Given the description of an element on the screen output the (x, y) to click on. 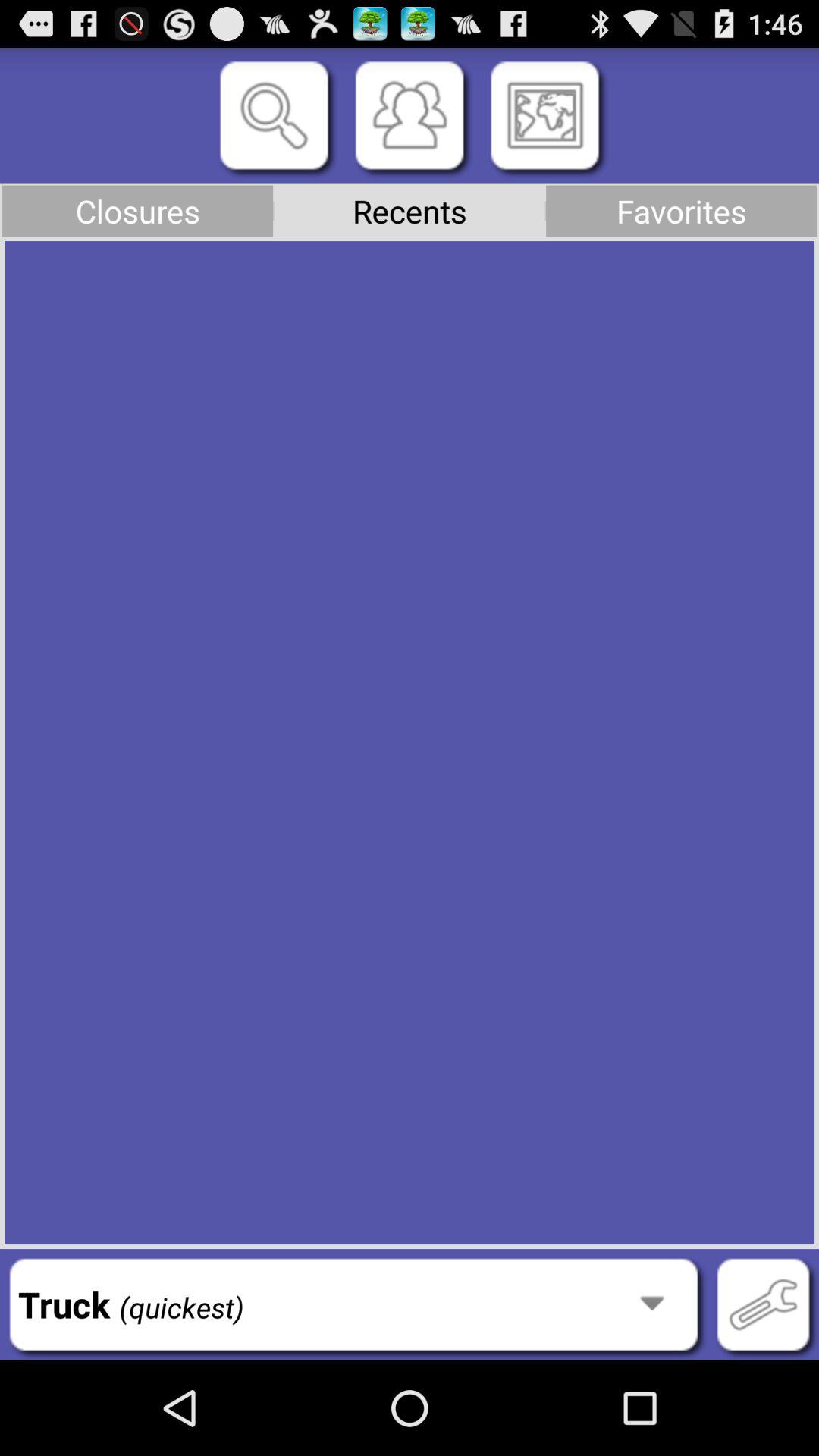
click button to the right of truck (quickest) icon (763, 1304)
